Given the description of an element on the screen output the (x, y) to click on. 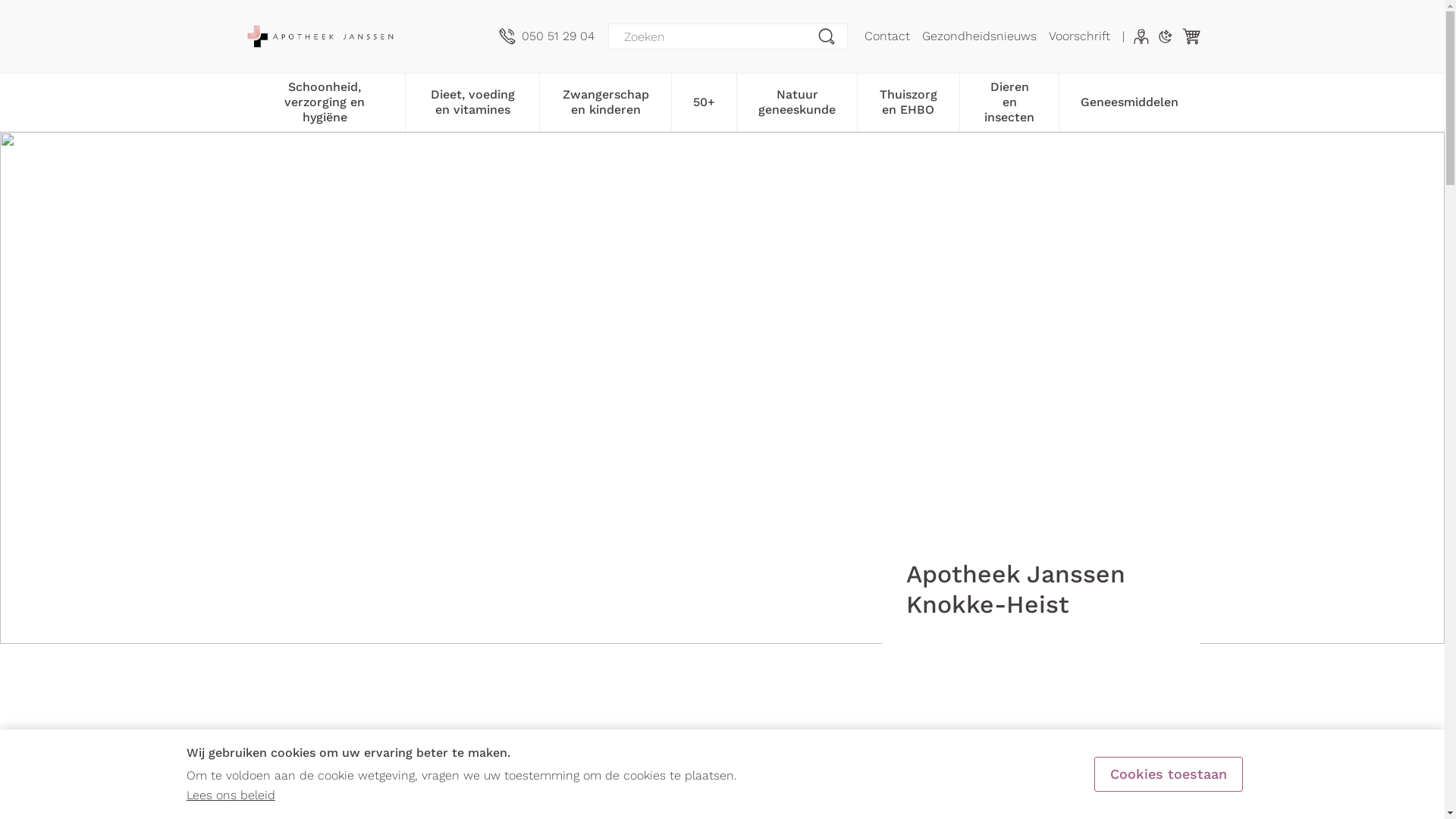
Winkelwagen Element type: text (1190, 36)
Thuiszorg en EHBO Element type: text (908, 100)
Klant menu Element type: text (1140, 35)
Voorschrift Element type: text (1078, 35)
Geneesmiddelen Element type: text (1129, 100)
Donkere modus Element type: text (1164, 35)
Apotheek Janssen Element type: hover (365, 36)
Gezondheidsnieuws Element type: text (979, 35)
50+ Element type: text (703, 100)
Dieet, voeding en vitamines Element type: text (472, 100)
Zwangerschap en kinderen Element type: text (605, 100)
050 51 29 04 Element type: text (546, 36)
Cookies toestaan Element type: text (1168, 773)
Dieren en insecten Element type: text (1009, 100)
Apotheek Janssen Element type: hover (319, 35)
Natuur geneeskunde Element type: text (796, 100)
Lees ons beleid Element type: text (230, 794)
Zoeken Element type: text (826, 36)
Contact Element type: text (887, 35)
